Given the description of an element on the screen output the (x, y) to click on. 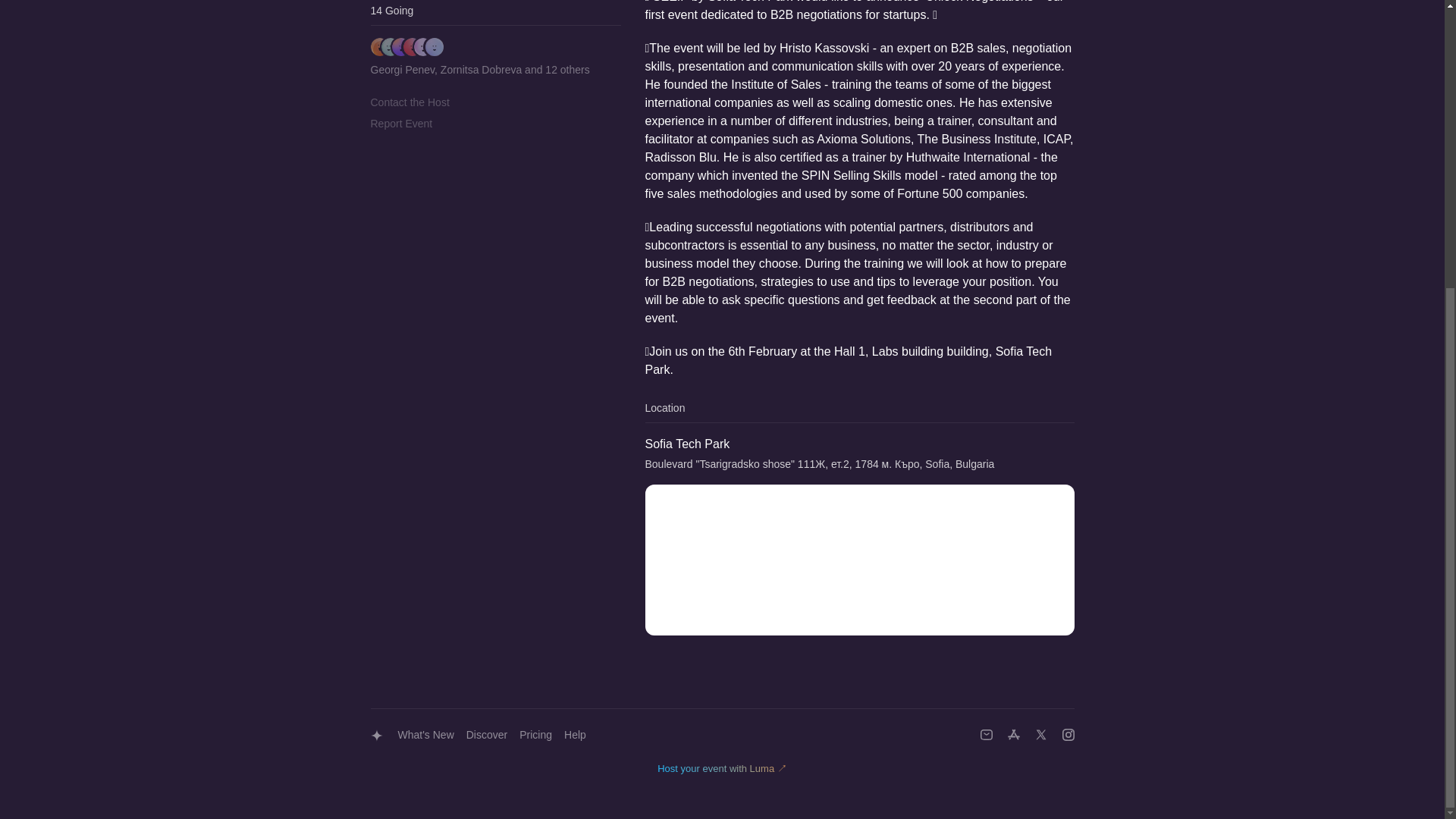
Help (574, 735)
Discover (486, 735)
Pricing (535, 735)
What's New (425, 735)
Contact the Host (408, 102)
Report Event (400, 122)
Georgi Penev, Zornitsa Dobreva and 12 others (479, 57)
